Given the description of an element on the screen output the (x, y) to click on. 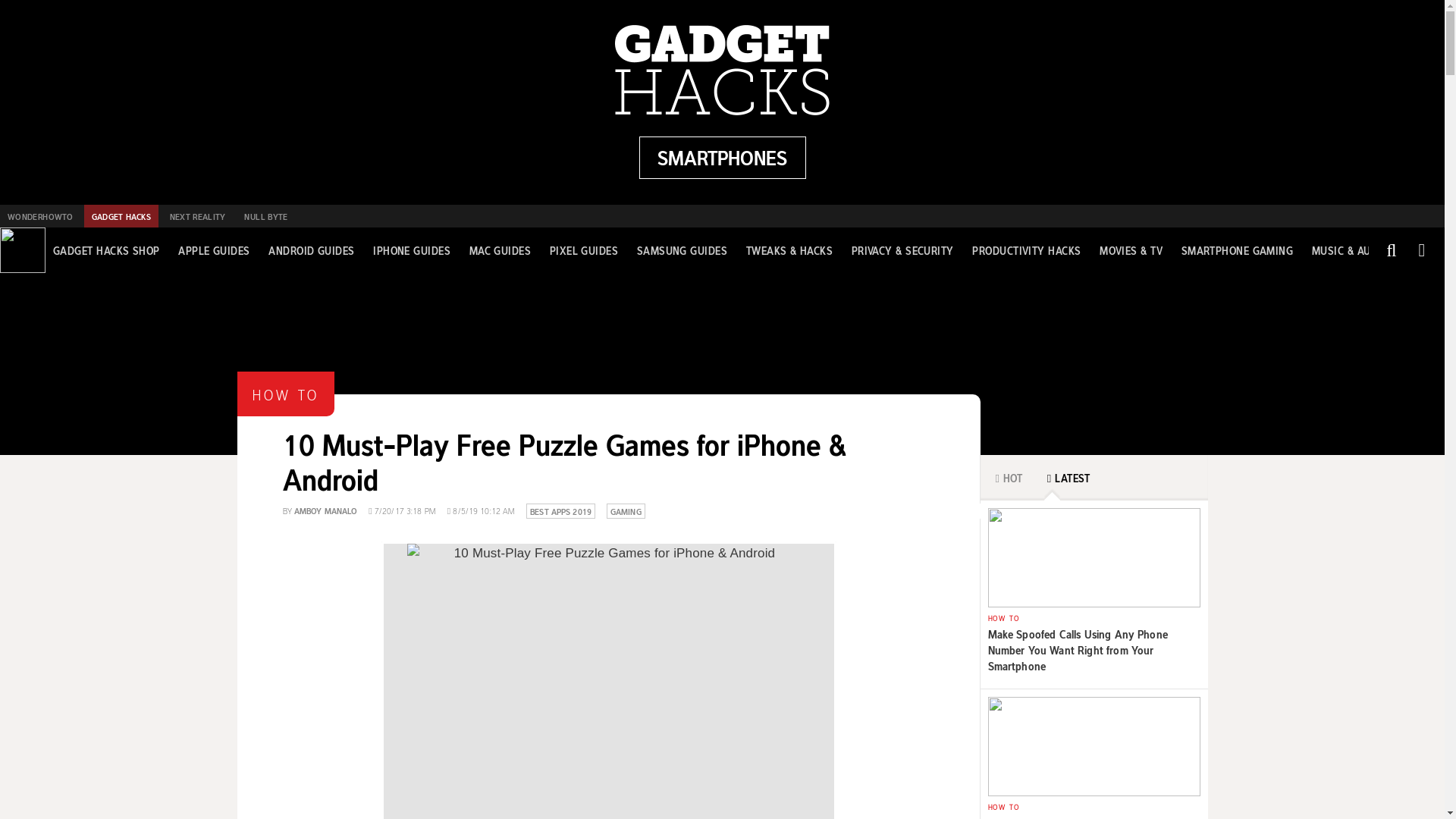
GAMING (626, 510)
help for cell phones, pdas, iphones, android, and more (722, 157)
IPHONE GUIDES (410, 249)
SAMSUNG GUIDES (681, 249)
NULL BYTE (265, 215)
WONDERHOWTO (40, 215)
AMBOY MANALO (325, 509)
NEXT REALITY (196, 215)
SMARTPHONES (722, 157)
PRODUCTIVITY HACKS (1026, 249)
ANDROID GUIDES (310, 249)
APPLE GUIDES (212, 249)
BEST APPS 2019 (560, 510)
MAC GUIDES (499, 249)
PIXEL GUIDES (583, 249)
